Given the description of an element on the screen output the (x, y) to click on. 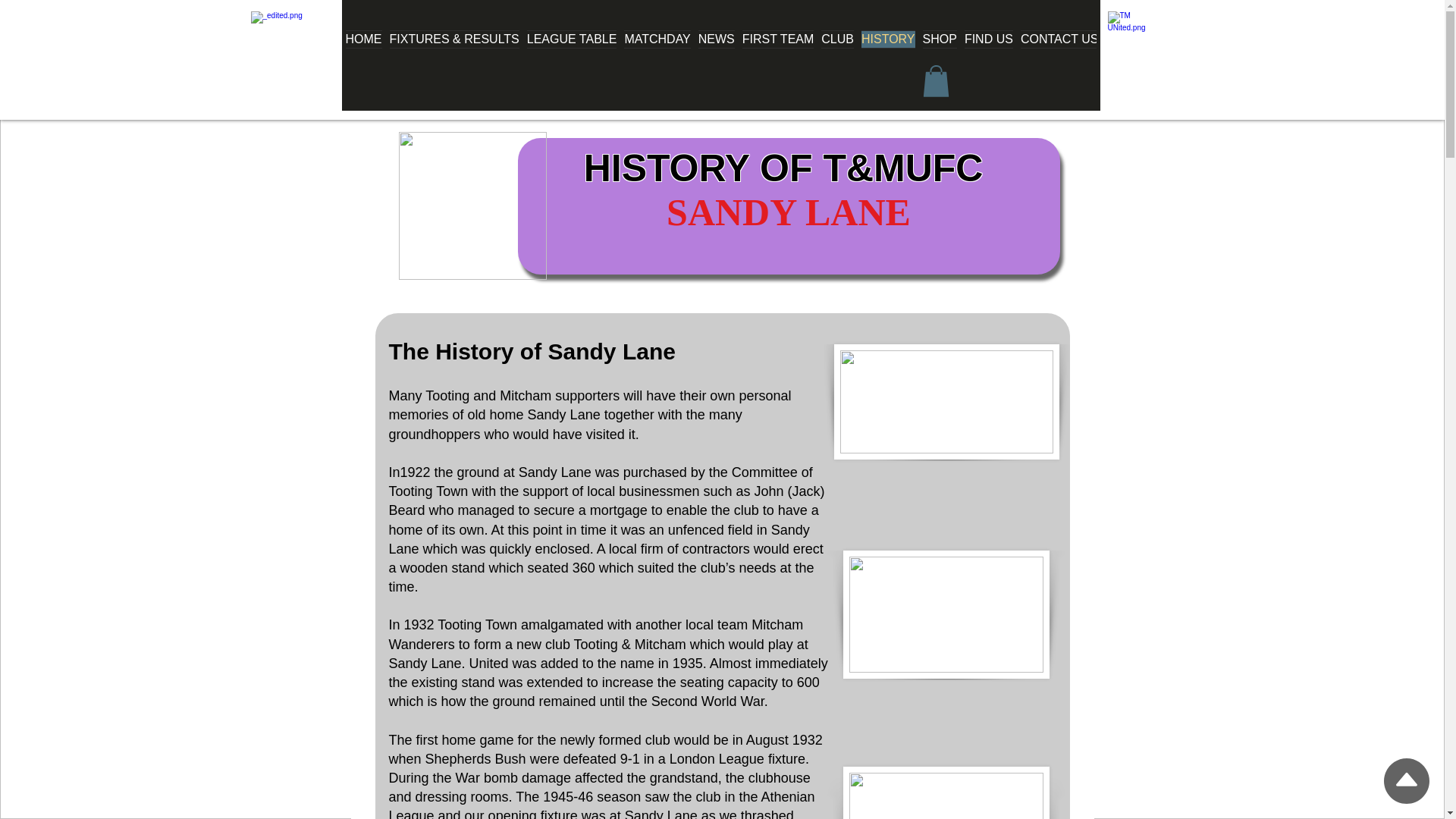
FIRST TEAM (778, 48)
MATCHDAY (657, 48)
HISTORY (887, 48)
SHOP (939, 48)
CONTACT US (1057, 48)
LEAGUE TABLE (571, 48)
CLUB (836, 48)
NEWS (716, 48)
HOME (365, 48)
FIND US (988, 48)
